Given the description of an element on the screen output the (x, y) to click on. 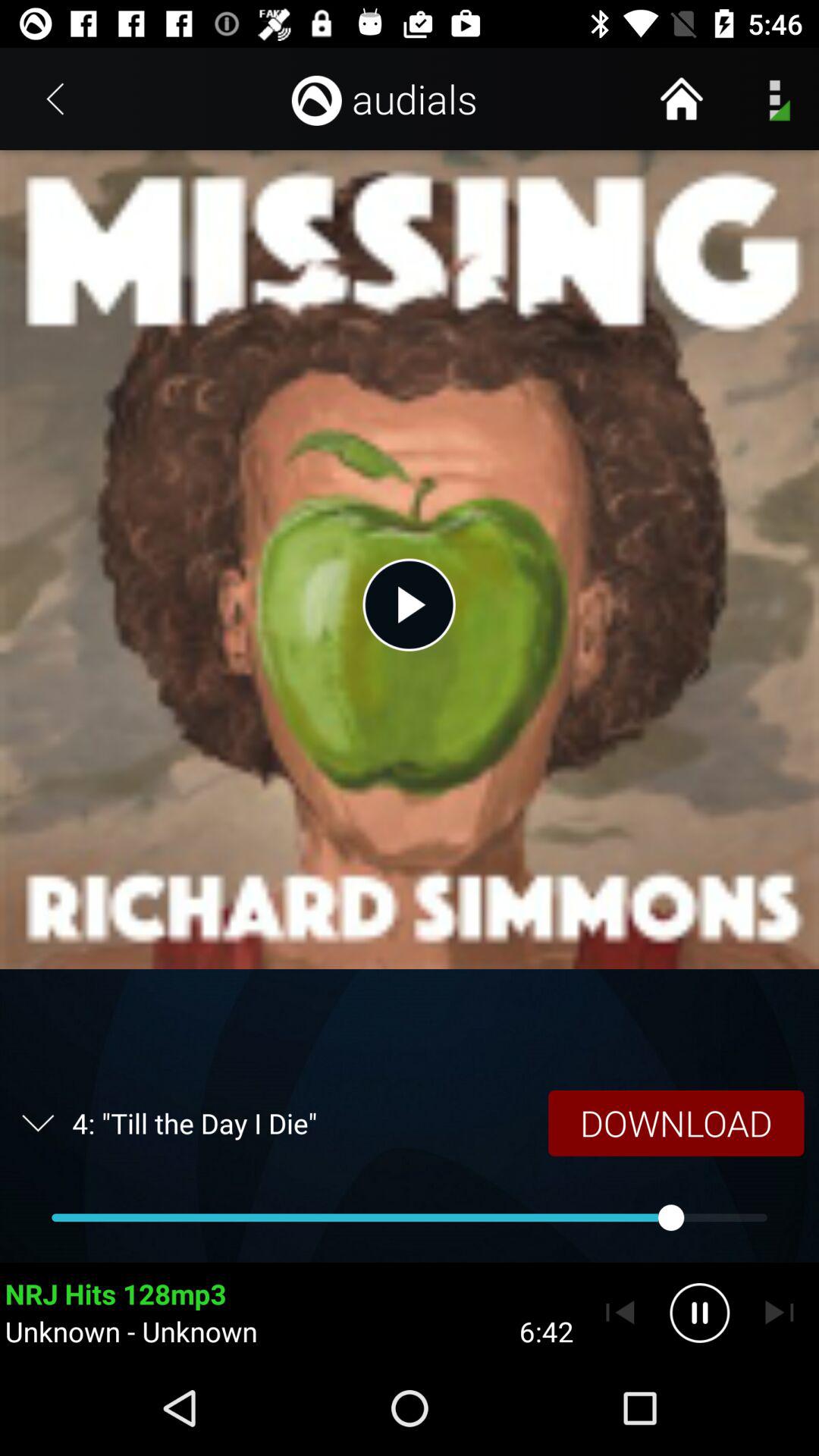
play button (408, 604)
